Given the description of an element on the screen output the (x, y) to click on. 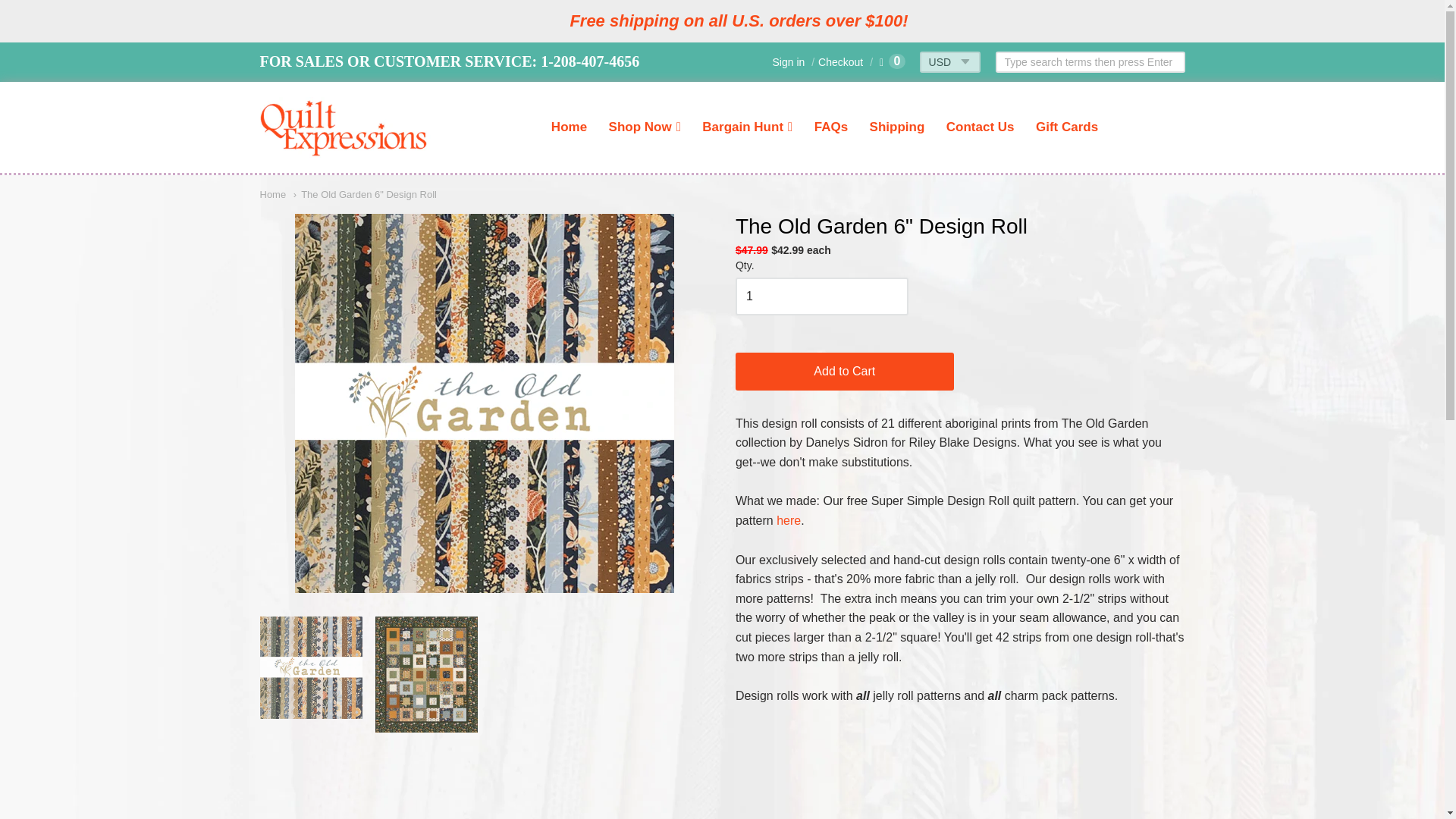
Quilt Expressions (344, 127)
Super Simple Design Roll Pattern (788, 520)
The Old Garden 6 (426, 674)
Shop Now (644, 127)
Bargain Hunt (747, 127)
Home (568, 127)
1 (821, 296)
0 (892, 61)
The Old Garden 6 (310, 667)
Checkout (835, 61)
Sign in (788, 61)
Home (272, 194)
